Given the description of an element on the screen output the (x, y) to click on. 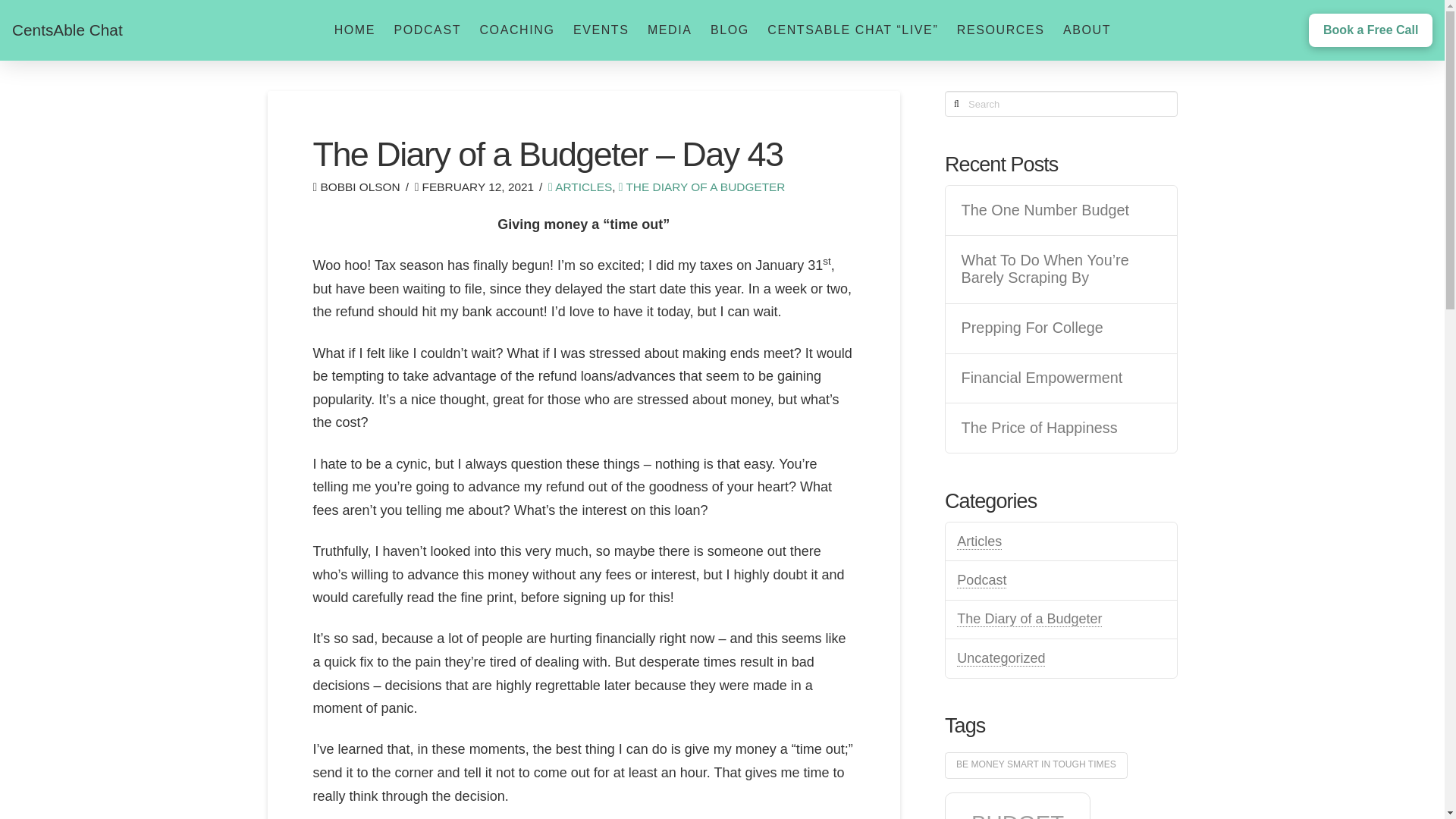
COACHING (515, 29)
THE DIARY OF A BUDGETER (702, 186)
ARTICLES (579, 186)
The Price of Happiness (1060, 428)
RESOURCES (999, 29)
BLOG (728, 29)
ABOUT (1085, 29)
Prepping For College (1060, 328)
HOME (354, 29)
EVENTS (600, 29)
